Given the description of an element on the screen output the (x, y) to click on. 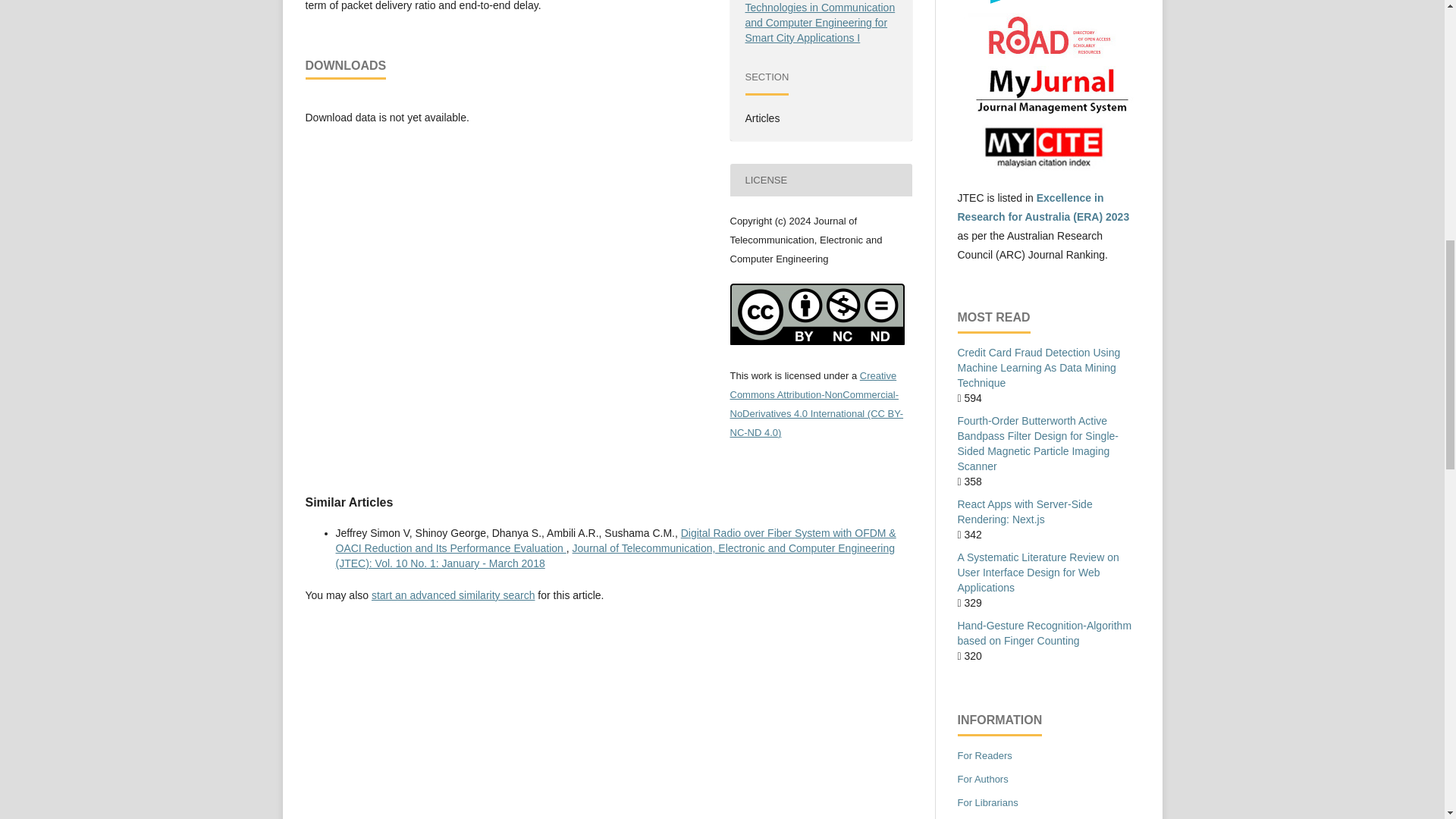
Crossref (1048, 4)
ROAD - JTEC (1047, 55)
MYJurnal - JTEC (1047, 110)
MYCite 2021 - JTEC (1047, 168)
